Given the description of an element on the screen output the (x, y) to click on. 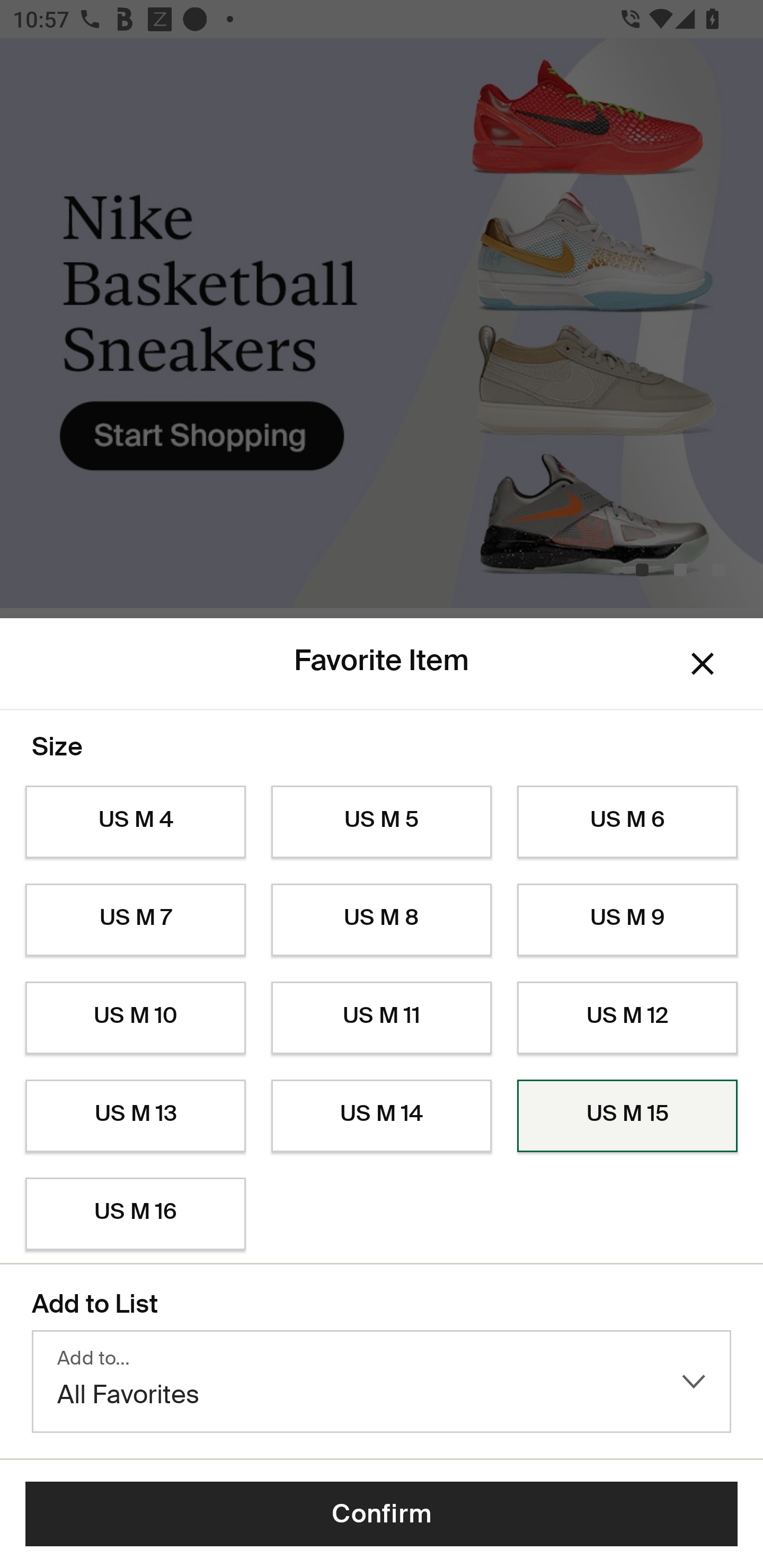
Dismiss (702, 663)
US M 4 (135, 822)
US M 5 (381, 822)
US M 6 (627, 822)
US M 7 (135, 919)
US M 8 (381, 919)
US M 9 (627, 919)
US M 10 (135, 1018)
US M 11 (381, 1018)
US M 12 (627, 1018)
US M 13 (135, 1116)
US M 14 (381, 1116)
US M 15 (627, 1116)
US M 16 (135, 1214)
Add to… All Favorites (381, 1381)
Confirm (381, 1513)
